Given the description of an element on the screen output the (x, y) to click on. 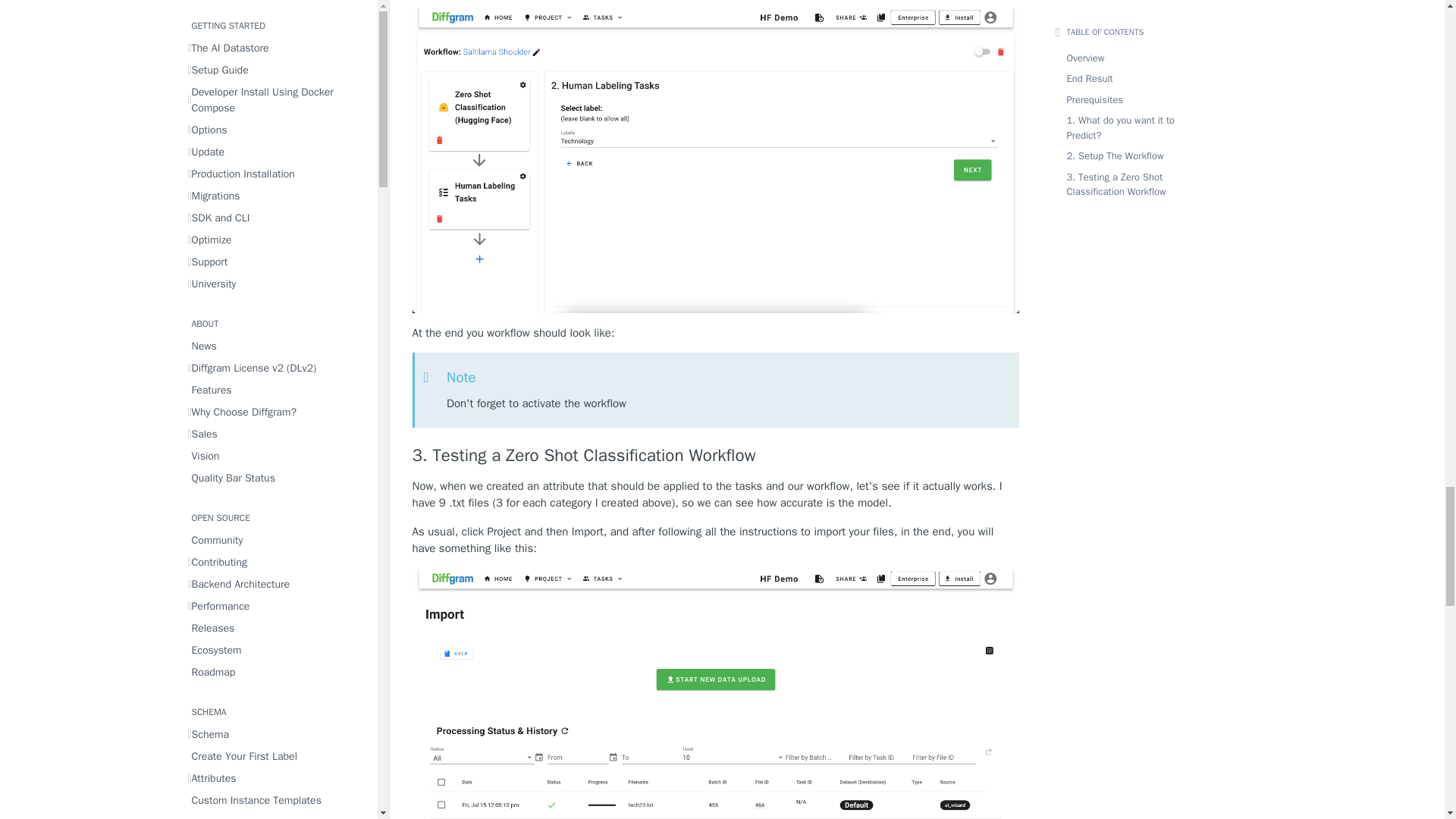
3. Testing a Zero Shot Classification Workflow (715, 455)
